Given the description of an element on the screen output the (x, y) to click on. 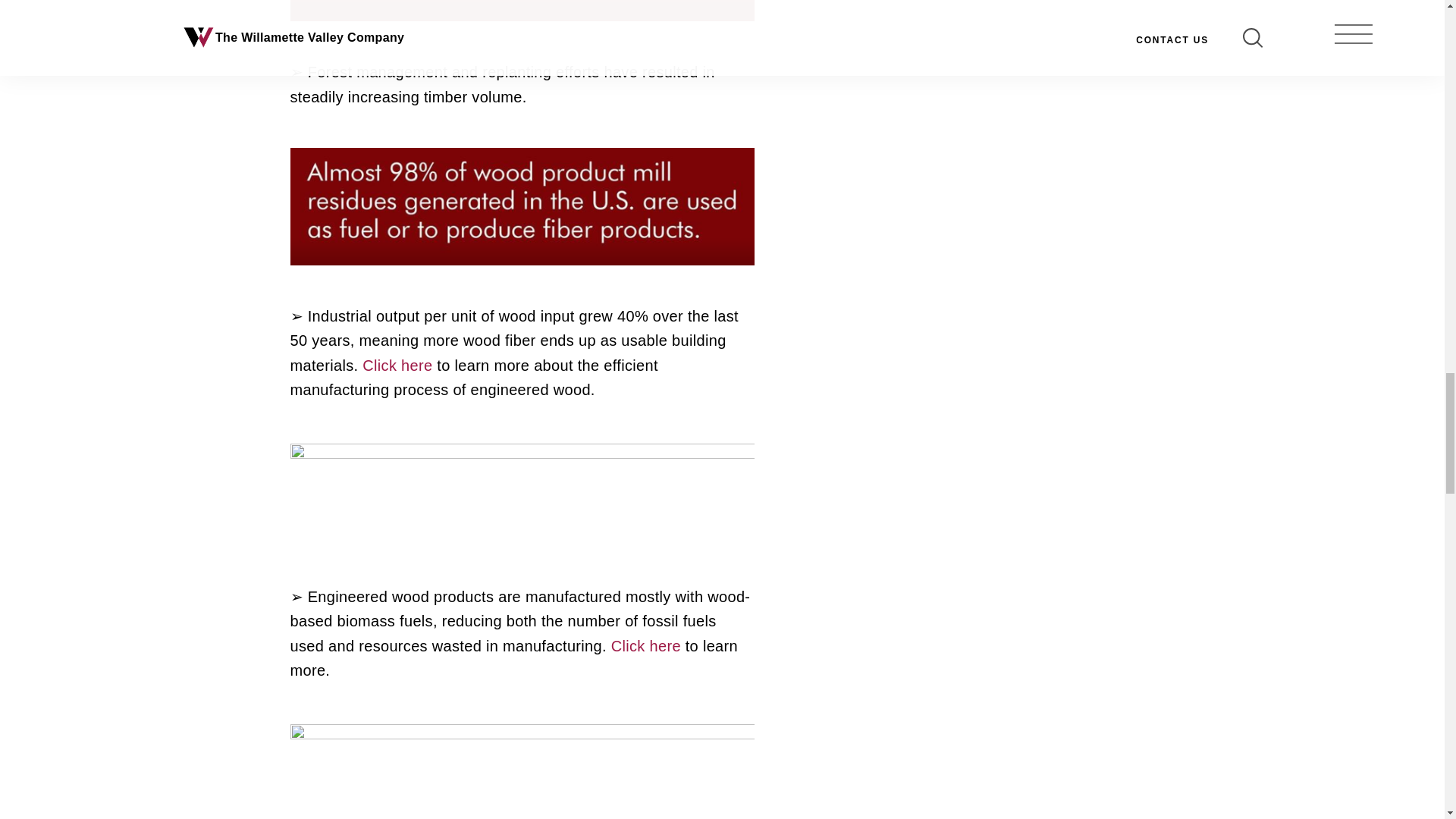
Click here (646, 646)
Click here (397, 365)
